Given the description of an element on the screen output the (x, y) to click on. 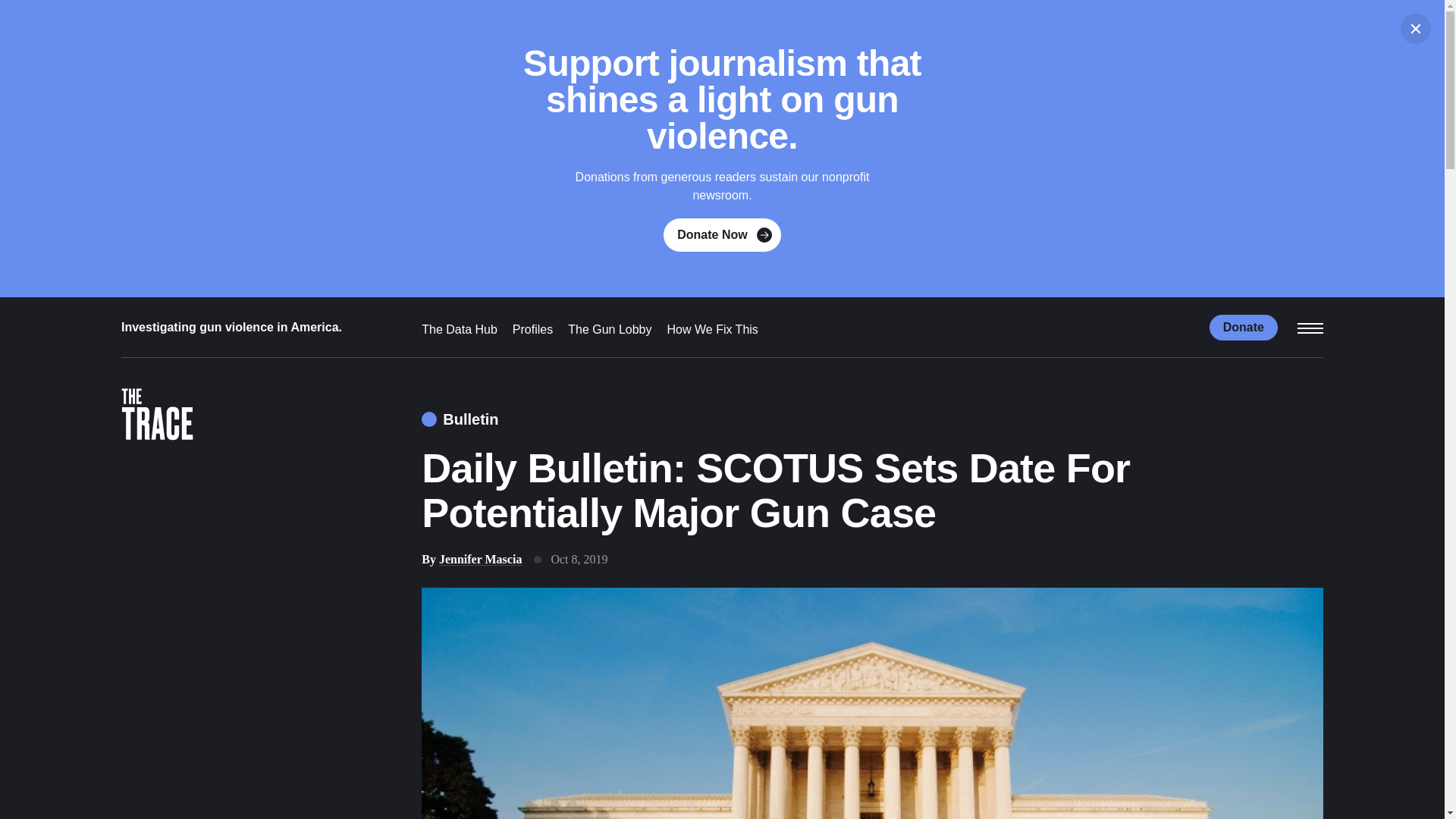
Bulletin (459, 419)
The Gun Lobby (608, 328)
Donate Now (721, 234)
How We Fix This (712, 328)
Close (1415, 28)
The Data Hub (459, 328)
Profiles (532, 328)
The Trace (156, 417)
Donate (1243, 326)
Jennifer Mascia (480, 558)
